Given the description of an element on the screen output the (x, y) to click on. 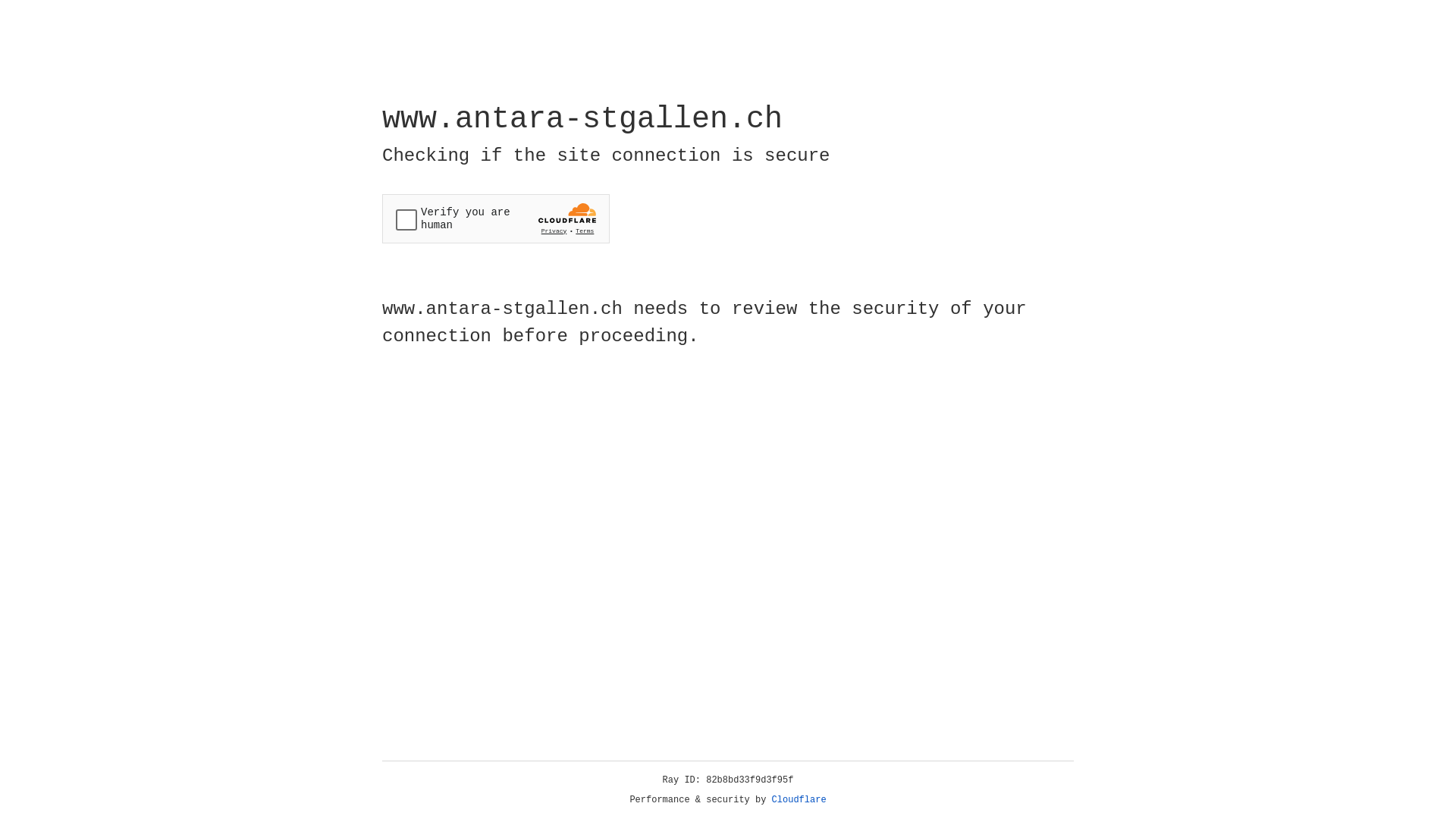
Cloudflare Element type: text (798, 799)
Widget containing a Cloudflare security challenge Element type: hover (495, 218)
